Given the description of an element on the screen output the (x, y) to click on. 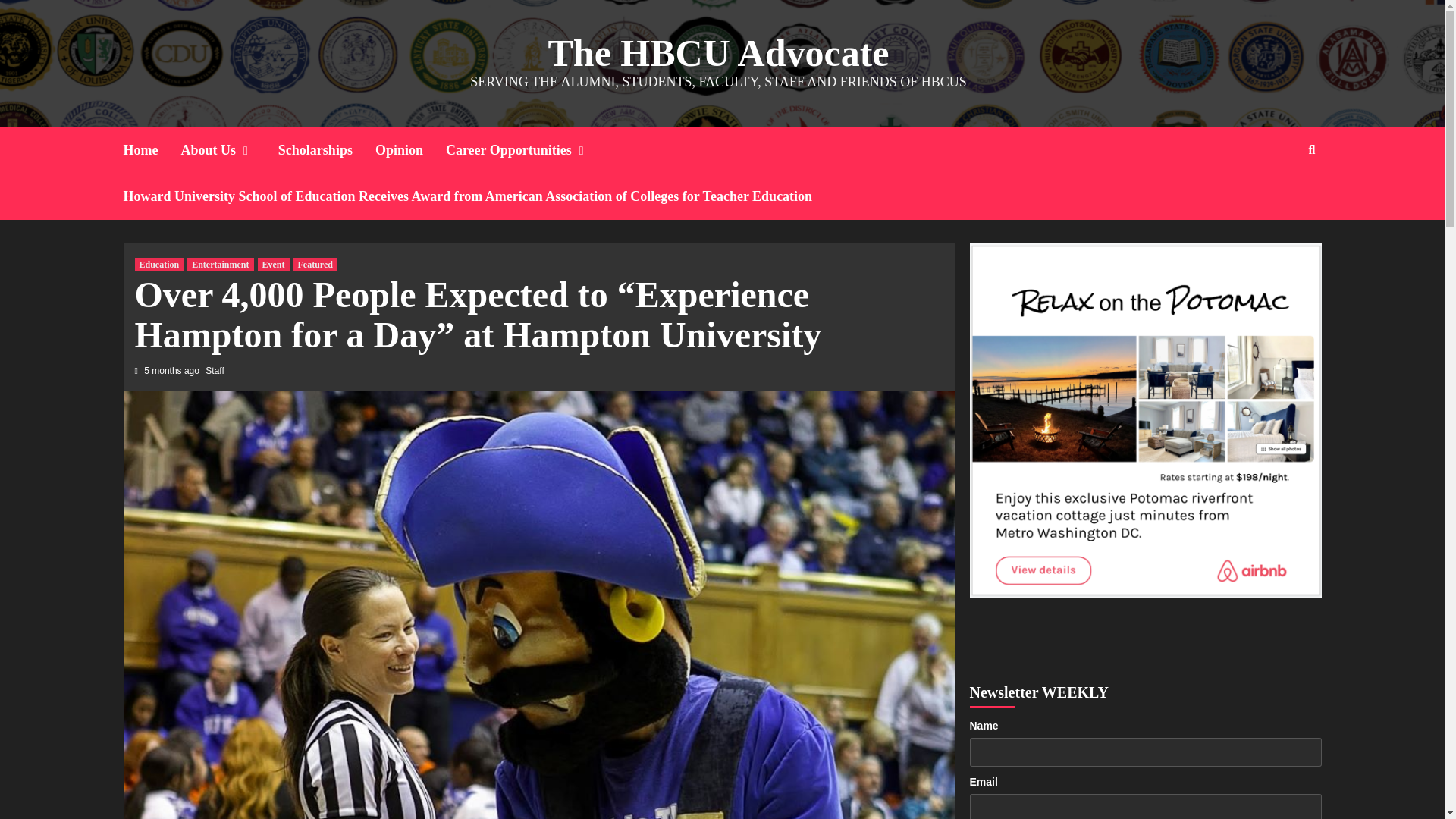
Featured (315, 264)
Event (273, 264)
Career Opportunities (529, 150)
Home (151, 150)
Search (1276, 198)
5 months ago (173, 370)
Education (159, 264)
Scholarships (326, 150)
The HBCU Advocate (717, 52)
